Given the description of an element on the screen output the (x, y) to click on. 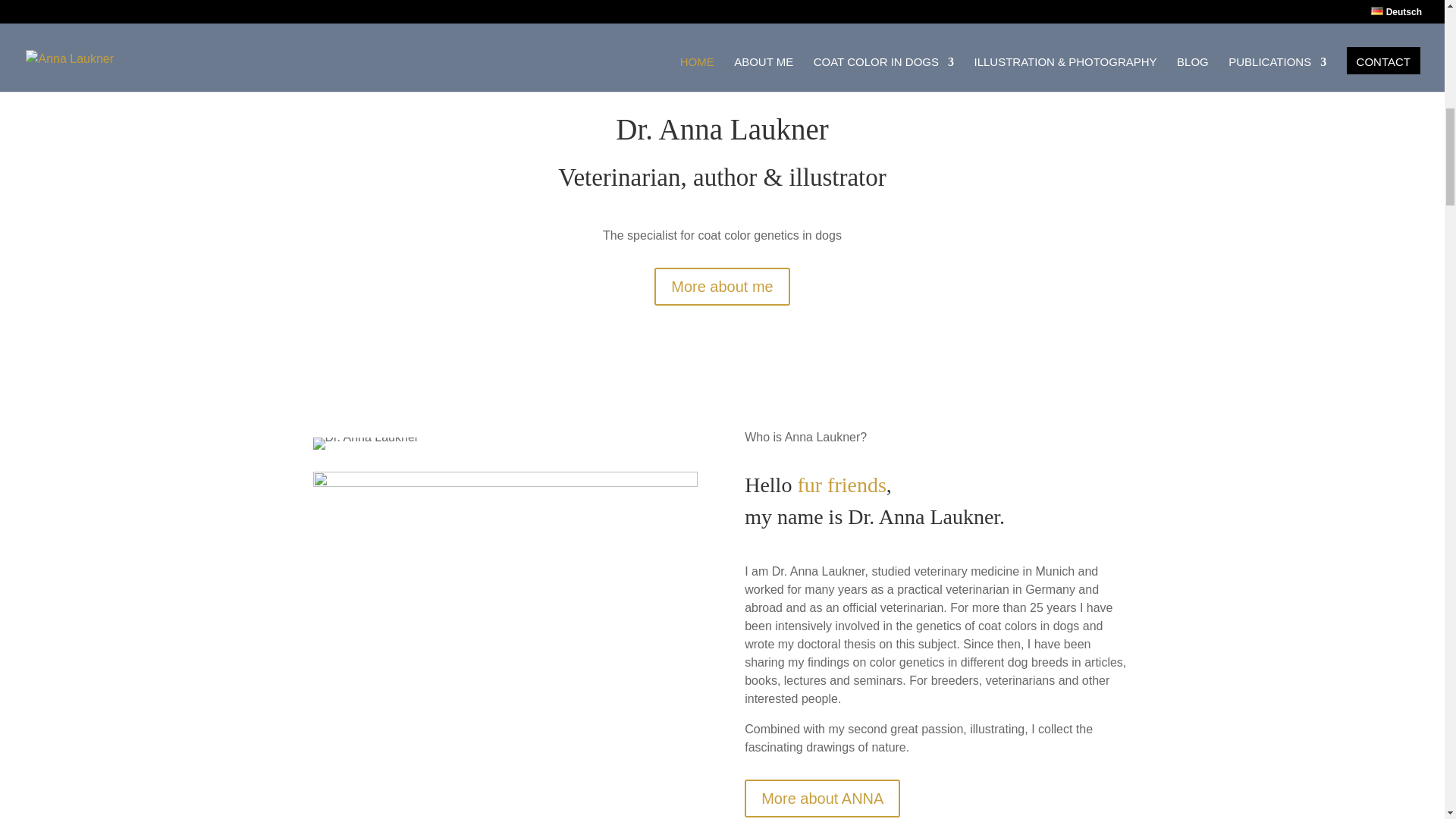
Dr. Anna Laukner - Autorin (691, 42)
Dr. Anna Laukner (366, 443)
Illustration von Anna Laukner (505, 639)
More about me (721, 286)
More about ANNA (821, 798)
